Given the description of an element on the screen output the (x, y) to click on. 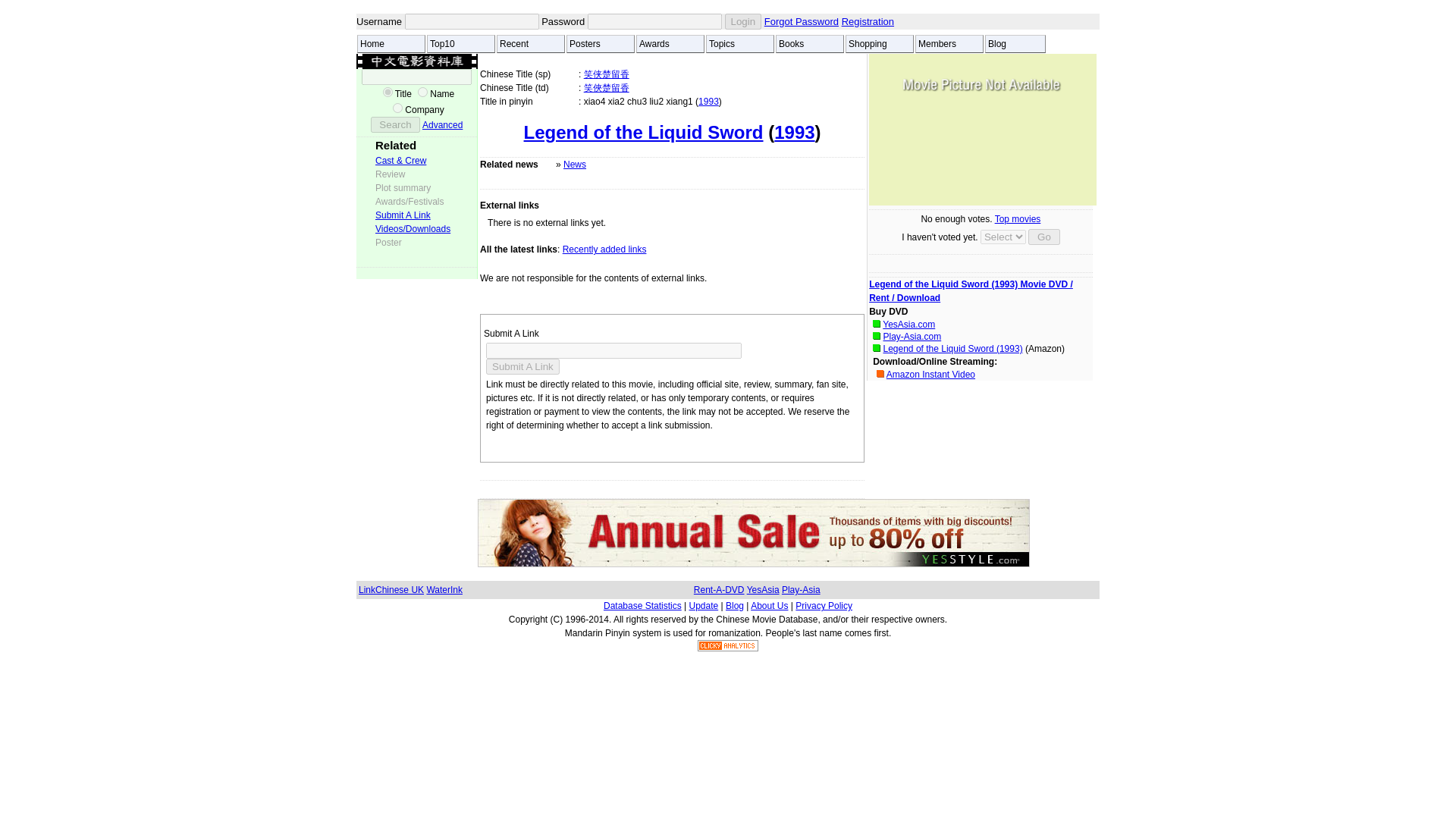
Rent-A-DVD (719, 589)
Awards (670, 44)
Submit A Link (522, 366)
Real Time Web Analytics (727, 647)
Top10 (460, 44)
Site Blog (734, 605)
Topics (740, 44)
Books (810, 44)
Titles-Only (387, 91)
LinkChinese UK (390, 589)
1993 Film List (708, 101)
Site Update (702, 605)
Members (949, 44)
Submit A Link (402, 214)
Find Legend of the Liquid Sword DVDs from Amazon US (952, 348)
